Given the description of an element on the screen output the (x, y) to click on. 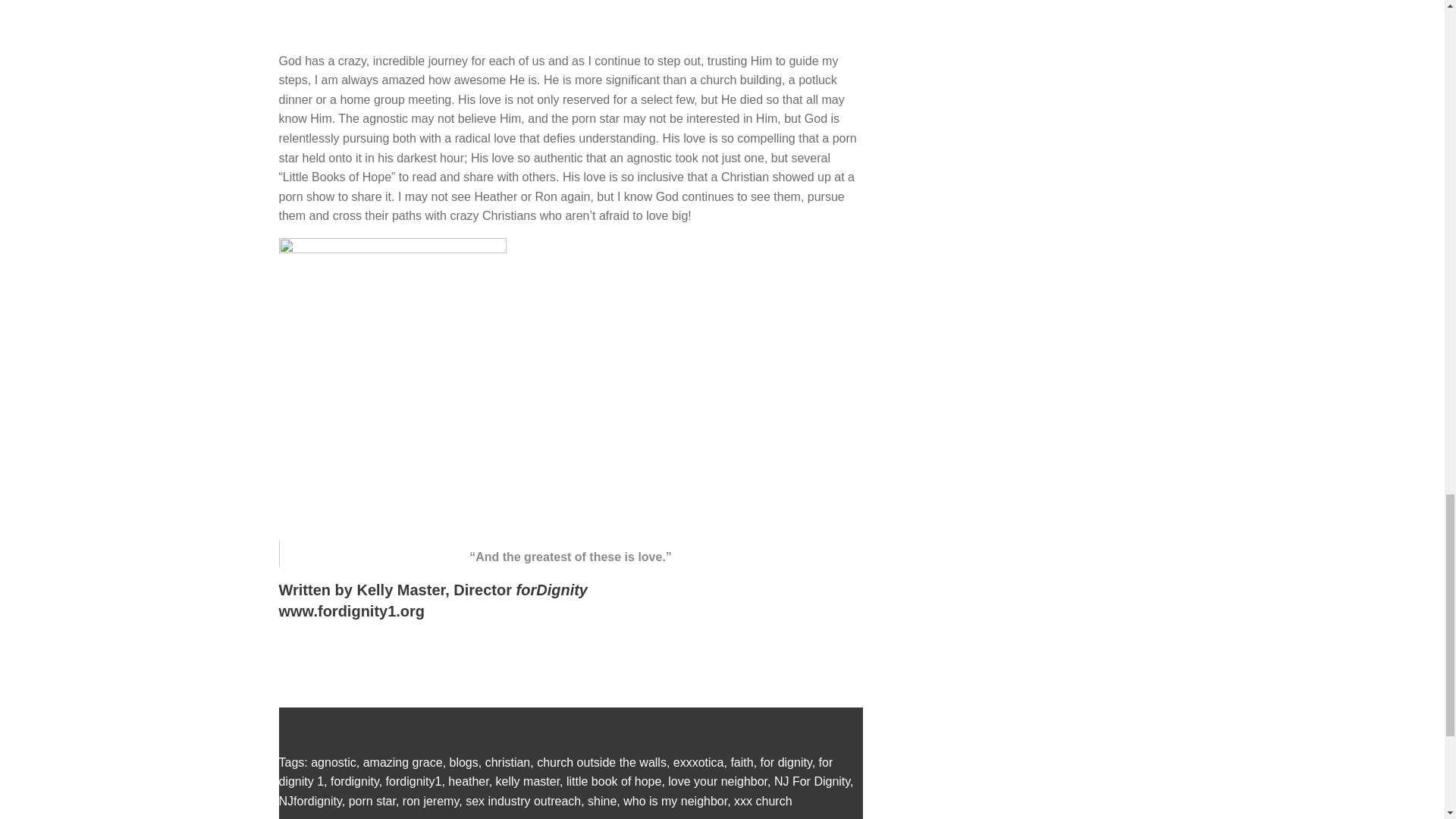
amazing grace (402, 762)
fordignity (354, 780)
little book of hope (613, 780)
christian (507, 762)
faith (741, 762)
love your neighbor (717, 780)
exxxotica (697, 762)
for dignity (786, 762)
fordignity1 (413, 780)
church outside the walls (601, 762)
agnostic (333, 762)
NJ For Dignity (812, 780)
kelly master (527, 780)
blogs (464, 762)
for dignity 1 (555, 771)
